Given the description of an element on the screen output the (x, y) to click on. 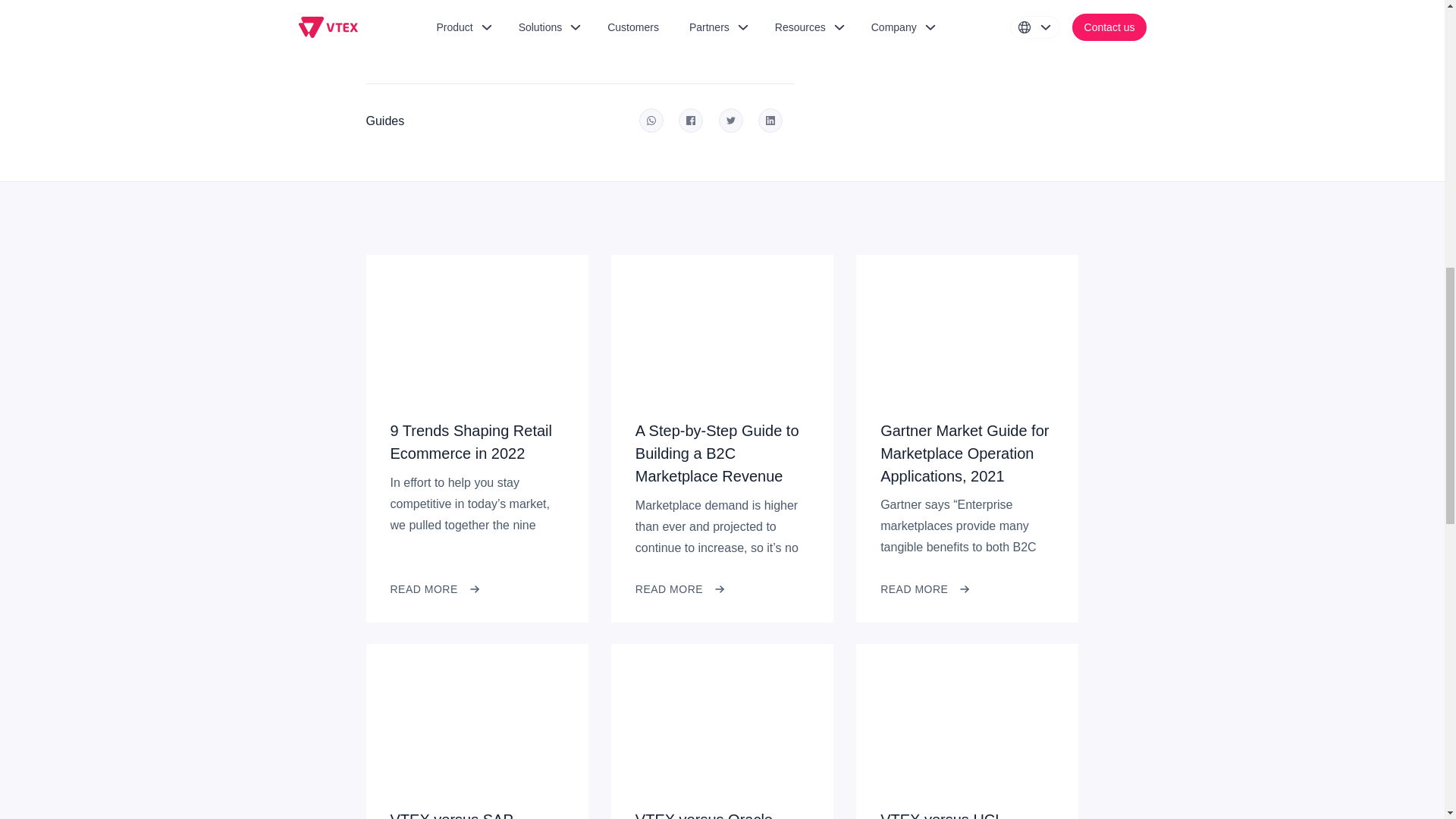
Share on Facebook (690, 119)
Share on Twitter (730, 119)
Share on Whatsapp (651, 119)
Share on Linkedin (769, 119)
